Given the description of an element on the screen output the (x, y) to click on. 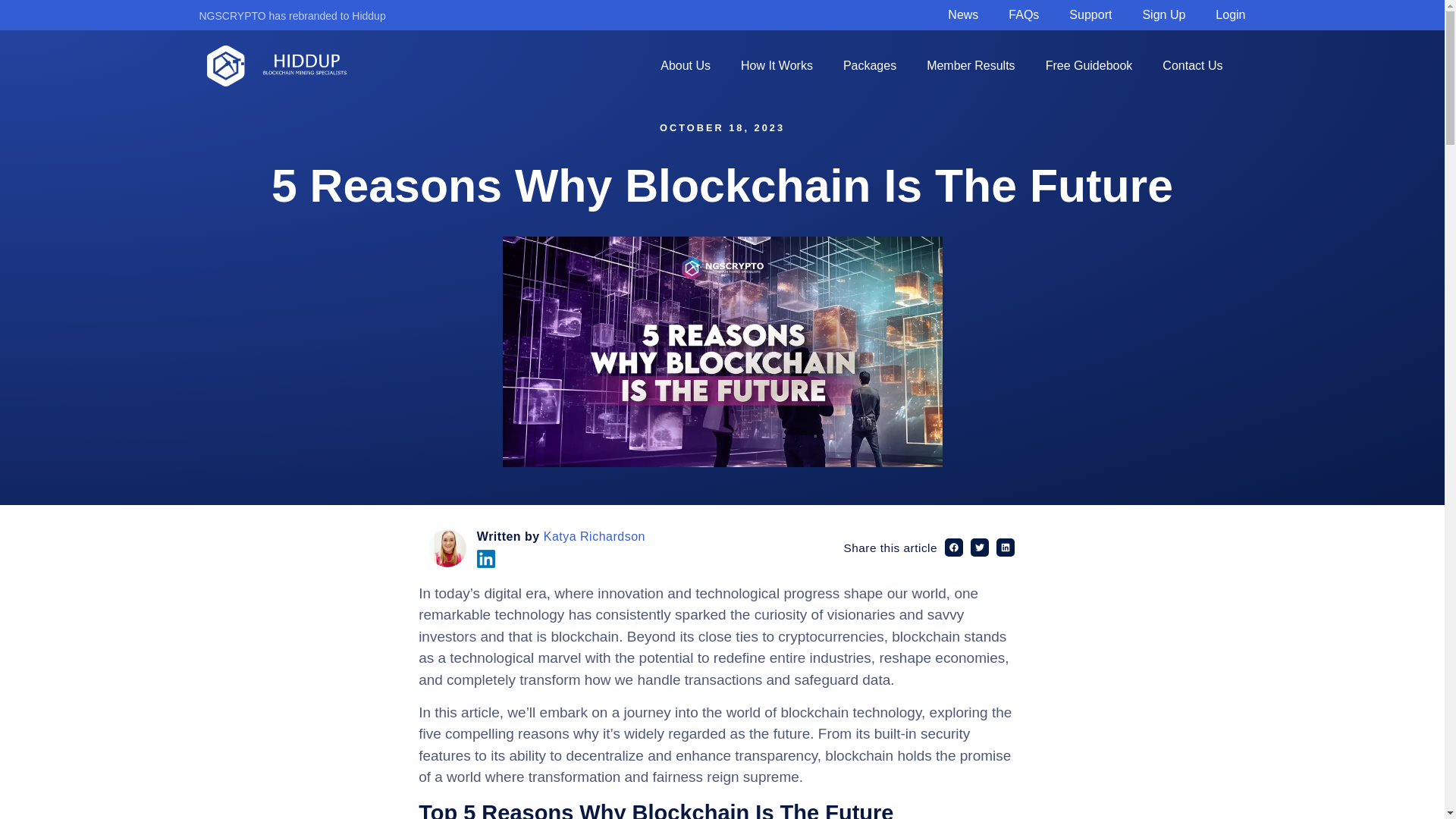
FAQs (1024, 14)
Packages (869, 65)
About Us (685, 65)
Login (1229, 14)
Free Guidebook (1089, 65)
News (962, 14)
Support (1090, 14)
Contact Us (1192, 65)
How It Works (776, 65)
Member Results (970, 65)
Sign Up (1163, 14)
